Given the description of an element on the screen output the (x, y) to click on. 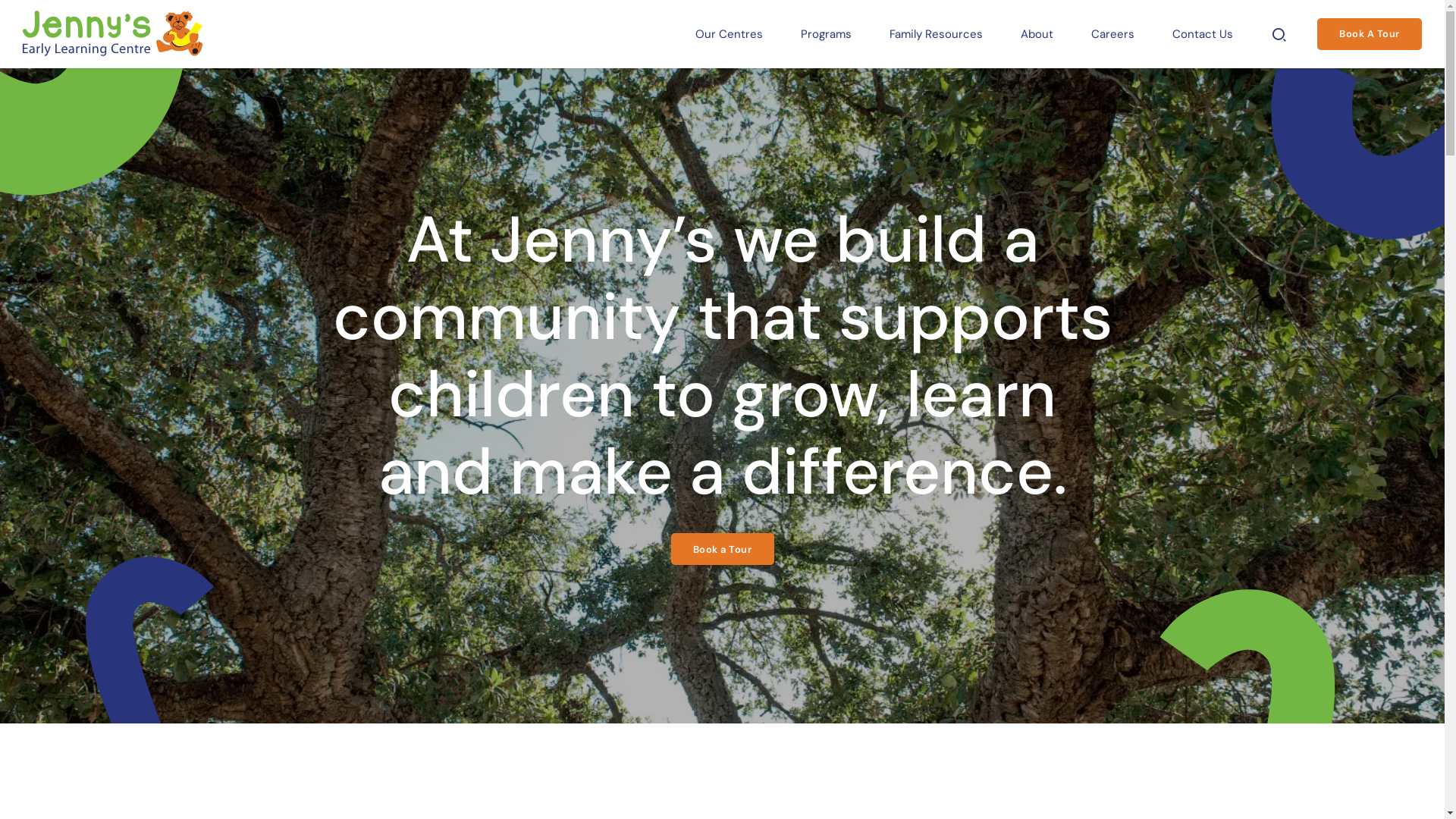
Family Resources Element type: text (935, 34)
Programs Element type: text (825, 34)
Contact Us Element type: text (1202, 34)
Our Centres Element type: text (728, 34)
Book a Tour Element type: text (721, 548)
About Element type: text (1036, 34)
Careers Element type: text (1112, 34)
Book A Tour Element type: text (1369, 34)
Group_328 (1) Element type: hover (147, 651)
